Given the description of an element on the screen output the (x, y) to click on. 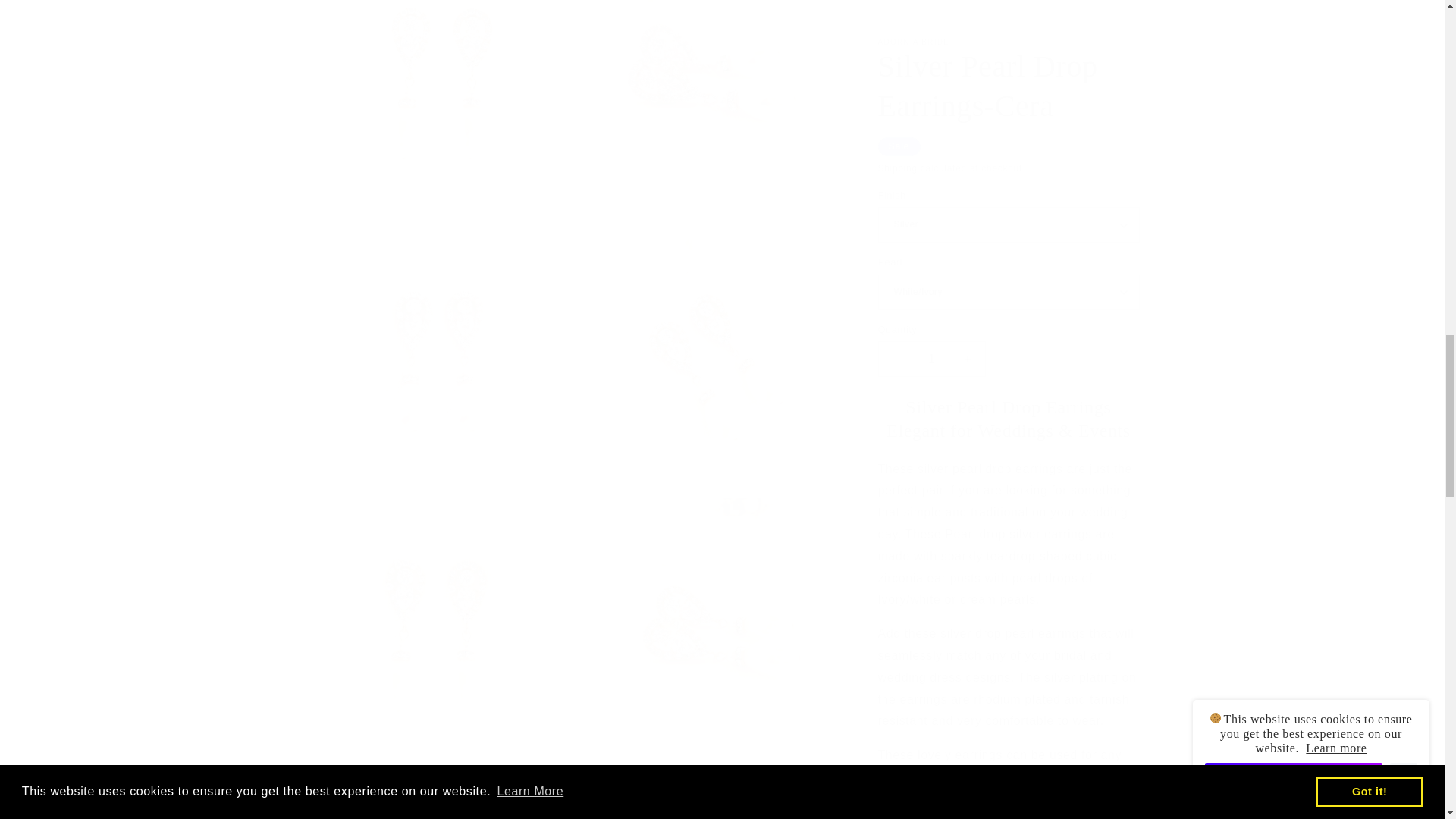
Open media 12 in modal (438, 616)
Open media 13 in modal (713, 616)
Open media 15 in modal (713, 787)
Open media 9 in modal (713, 101)
Open media 8 in modal (438, 101)
Open media 11 in modal (713, 342)
Open media 14 in modal (438, 787)
Open media 10 in modal (438, 342)
